Given the description of an element on the screen output the (x, y) to click on. 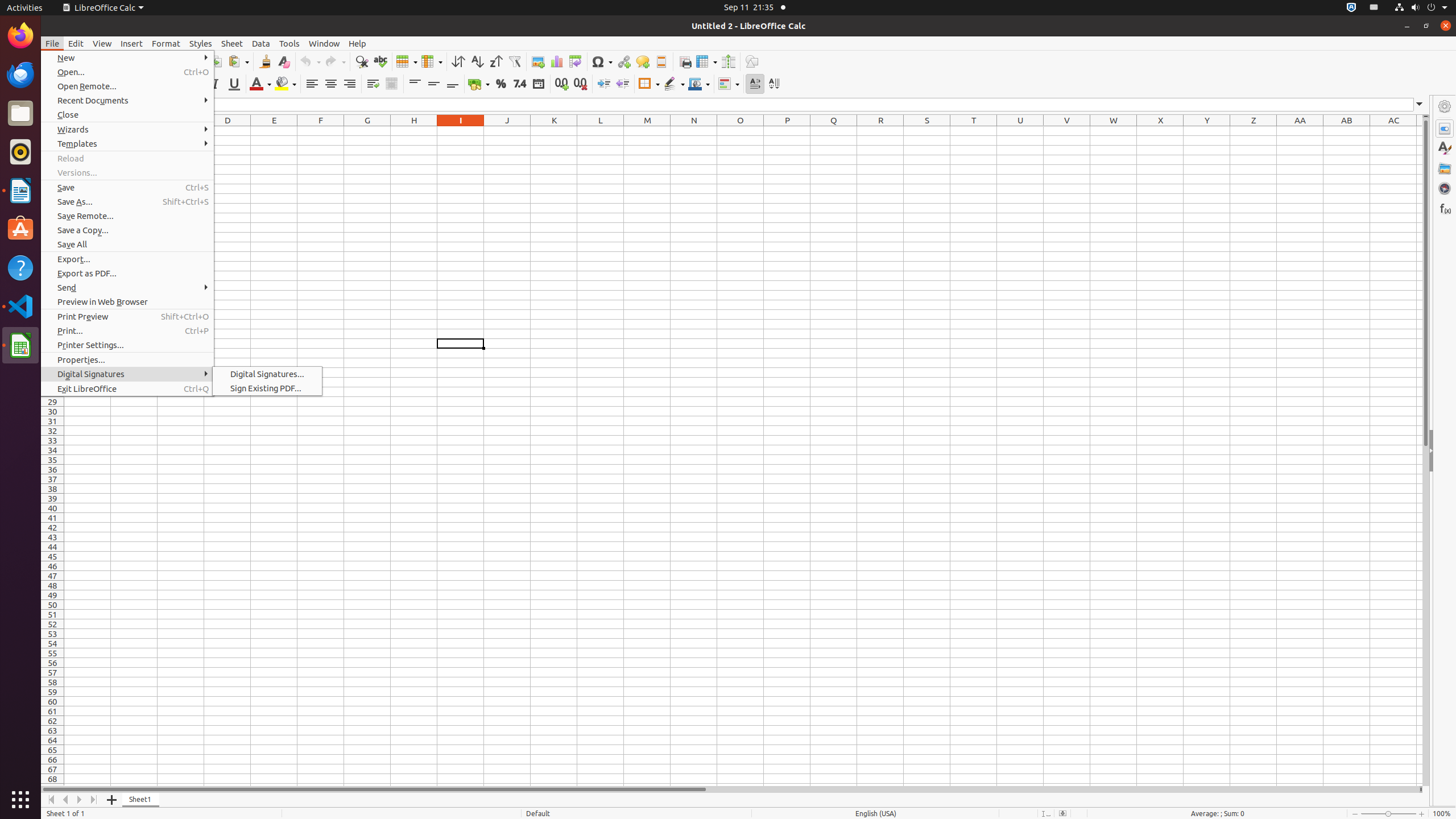
Printer Settings... Element type: menu-item (126, 344)
W1 Element type: table-cell (1113, 130)
Properties... Element type: menu-item (126, 359)
Paste Element type: push-button (237, 61)
File Element type: menu (51, 43)
